Given the description of an element on the screen output the (x, y) to click on. 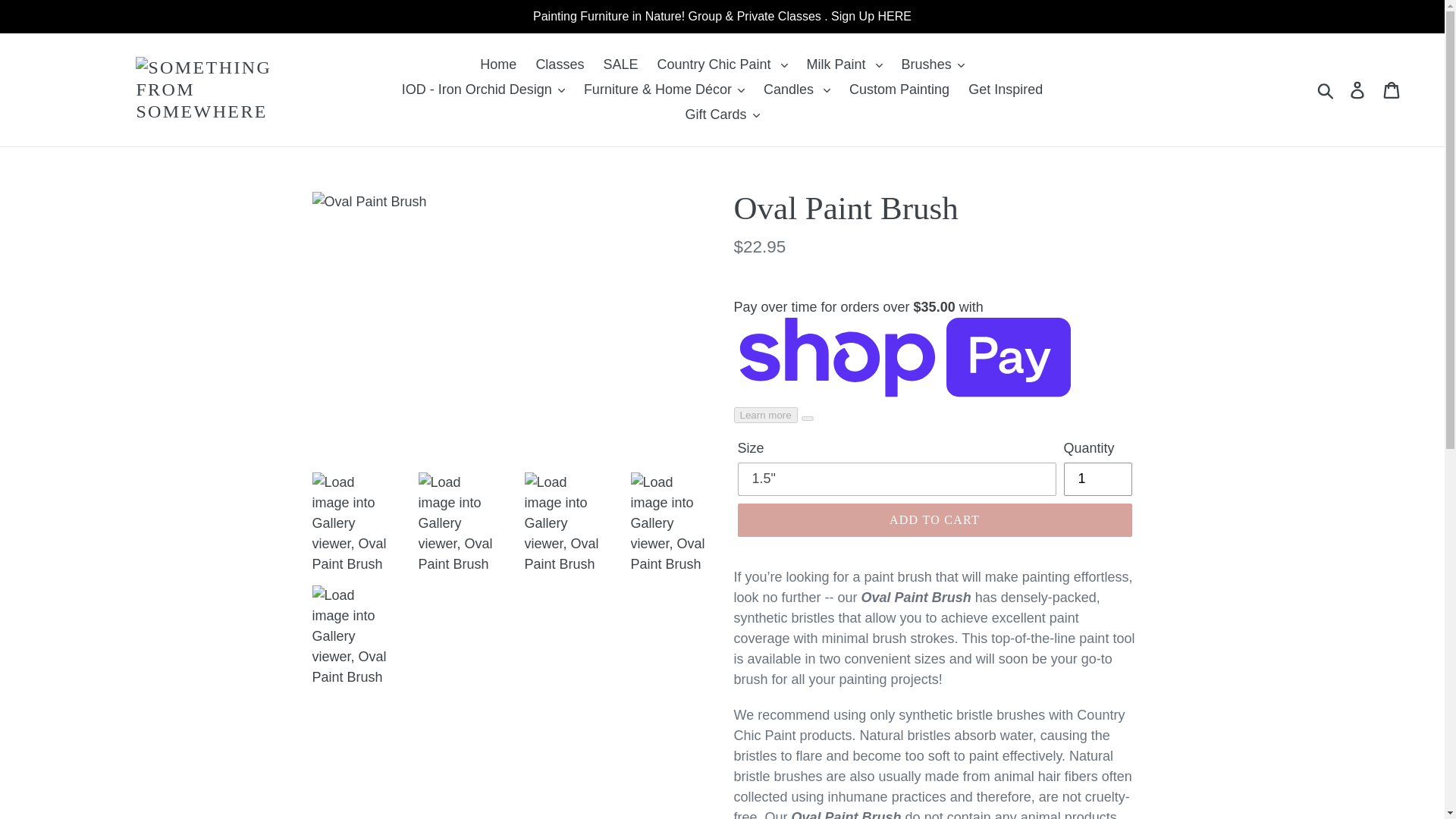
Classes (559, 64)
SALE (620, 64)
Home (497, 64)
1 (1096, 479)
